Given the description of an element on the screen output the (x, y) to click on. 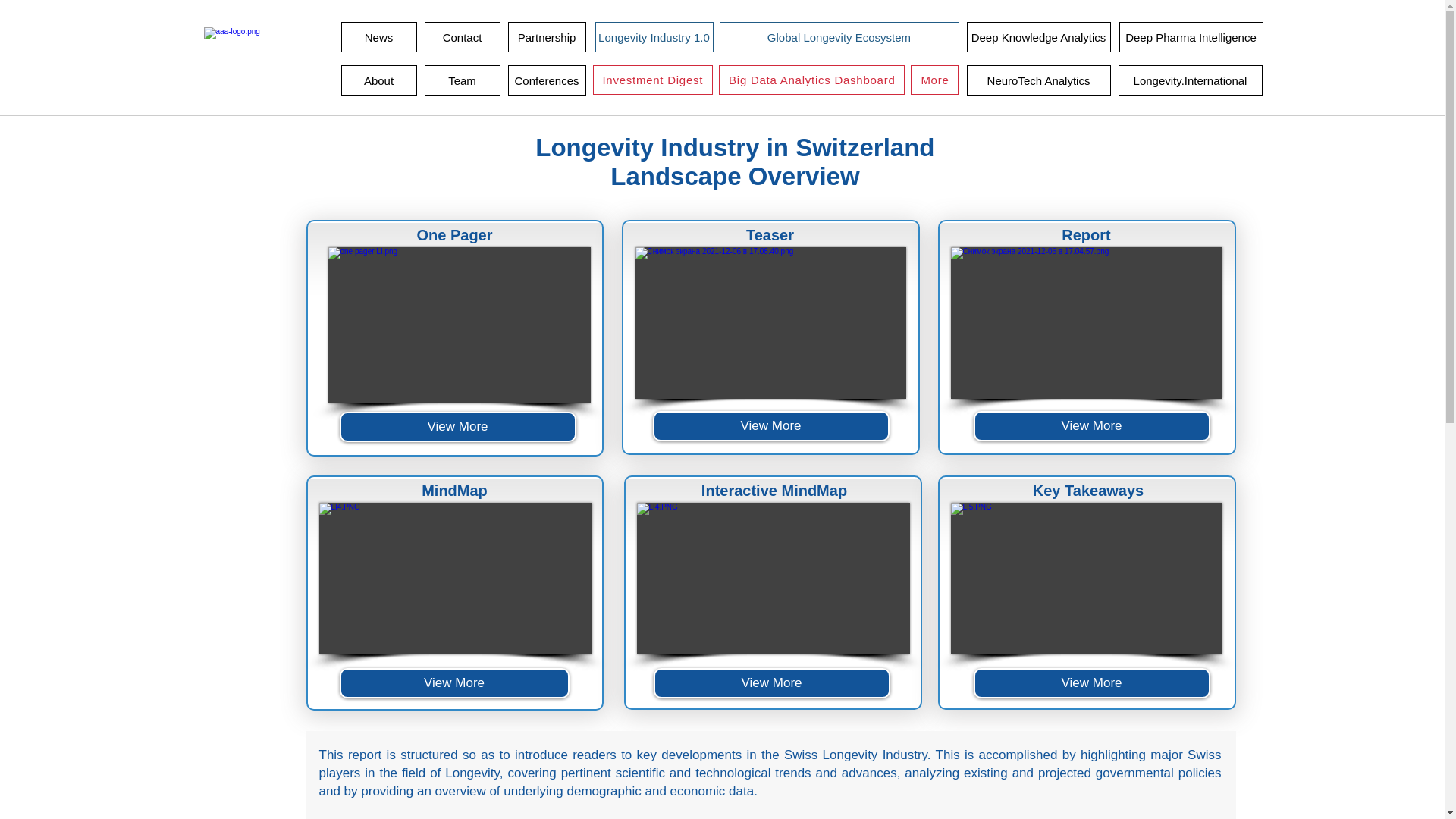
View More (770, 426)
View More (1091, 426)
Conferences (547, 80)
Global Longevity Ecosystem (838, 37)
Deep Pharma Intelligence (1191, 37)
Partnership (547, 37)
View More (1091, 683)
News (378, 37)
View More (771, 683)
Big Data Analytics Dashboard (811, 80)
